Given the description of an element on the screen output the (x, y) to click on. 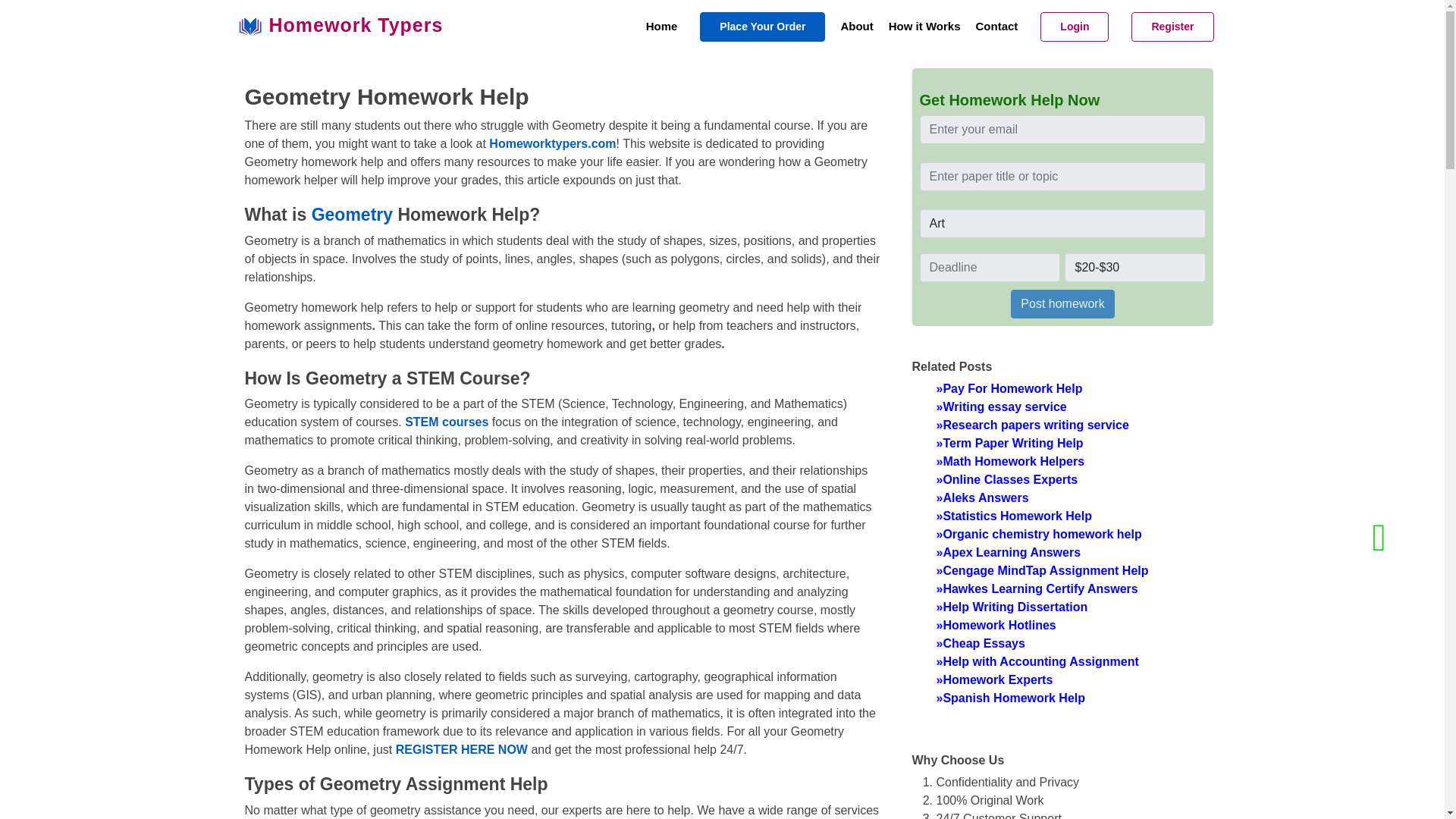
Contact (988, 26)
Place Your Order (762, 26)
Register (1171, 26)
How it Works (916, 26)
Place Your Order (762, 26)
Post homework (1061, 303)
Home (654, 26)
STEM courses (445, 421)
Homeworktypers.com (552, 143)
Contact (988, 26)
